Given the description of an element on the screen output the (x, y) to click on. 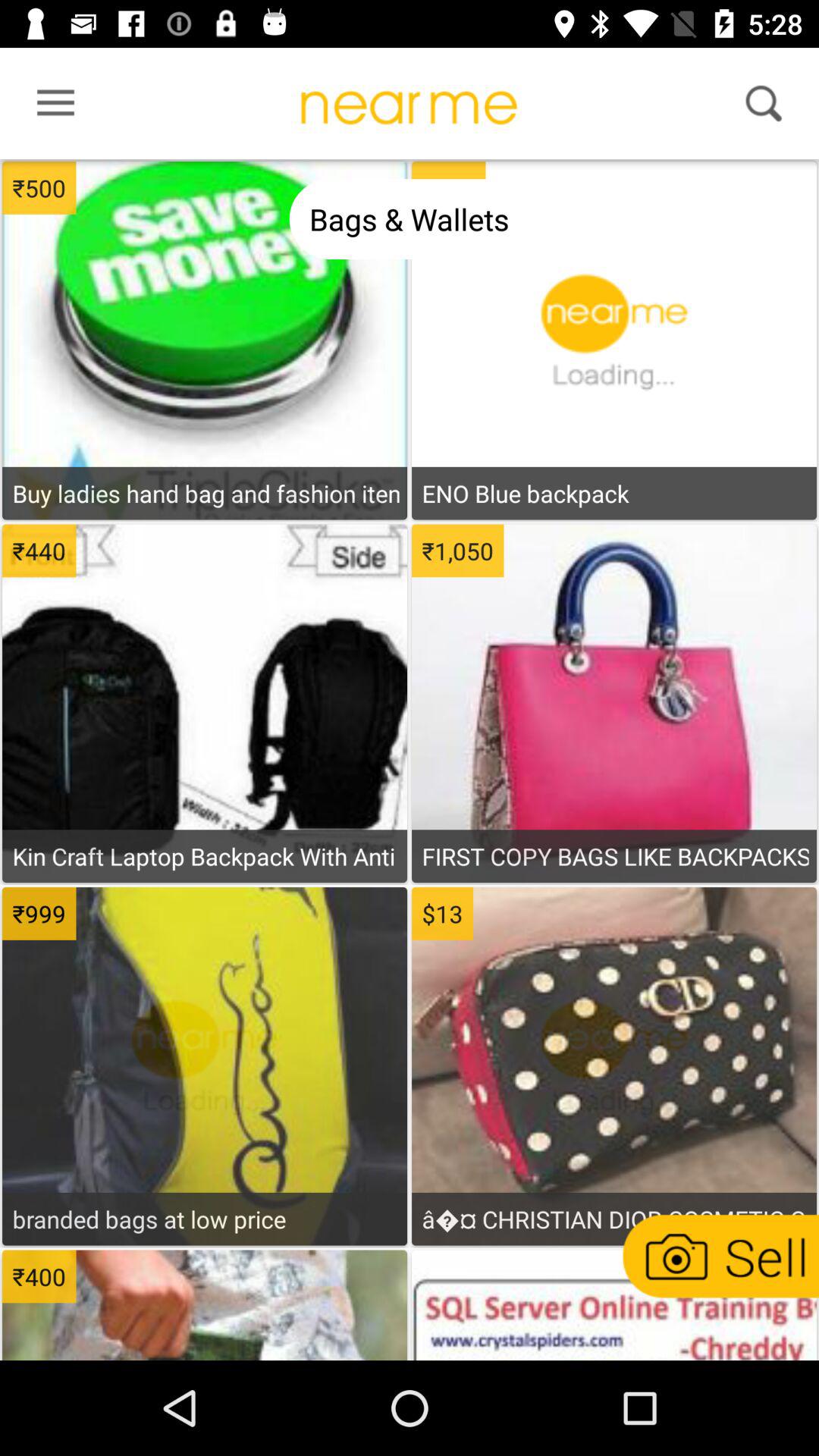
display more information (205, 545)
